Given the description of an element on the screen output the (x, y) to click on. 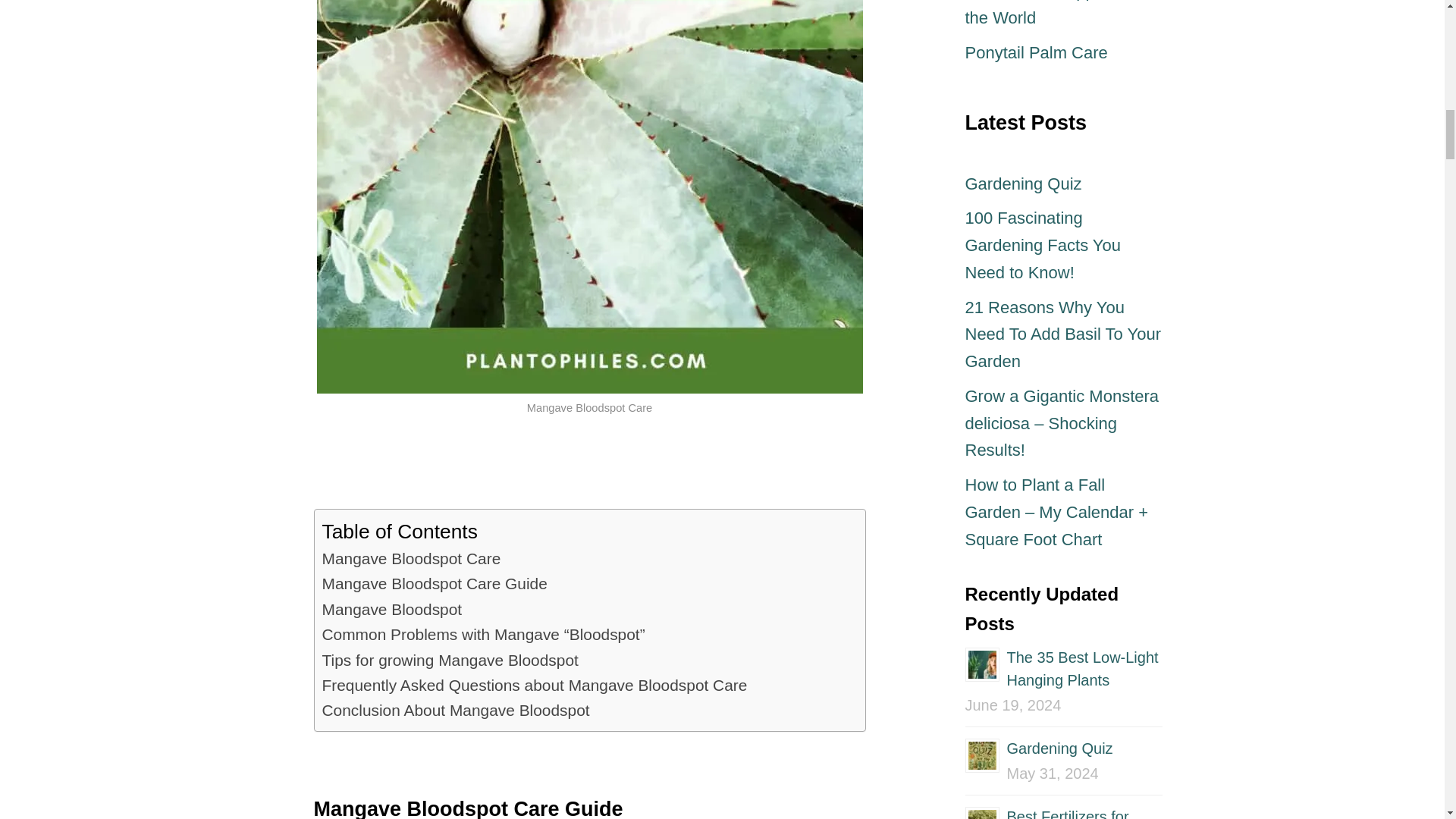
Mangave Bloodspot Care Guide (434, 583)
Mangave Bloodspot  (391, 609)
Conclusion About Mangave Bloodspot (455, 709)
Mangave Bloodspot Care (410, 558)
